Given the description of an element on the screen output the (x, y) to click on. 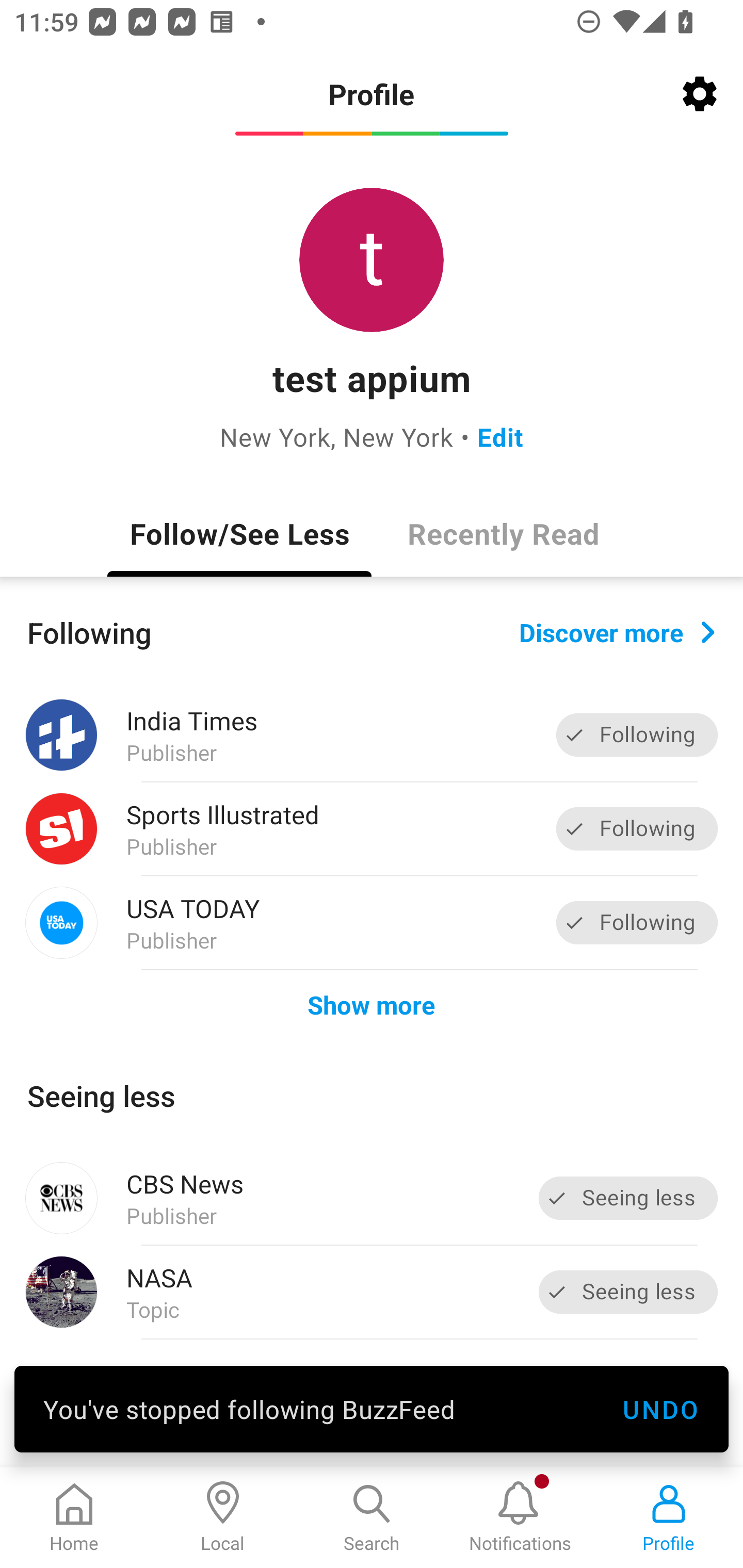
Settings (699, 93)
Edit (500, 436)
Recently Read (503, 533)
Discover more (617, 631)
India Times Publisher Following (371, 735)
Following (636, 735)
Sports Illustrated Publisher Following (371, 829)
Following (636, 828)
USA TODAY Publisher Following (371, 922)
Following (636, 922)
Show more (371, 1004)
CBS News Publisher Seeing less (371, 1197)
Seeing less (627, 1197)
NASA Topic Seeing less (371, 1291)
Seeing less (627, 1291)
UNDO (660, 1408)
Home (74, 1517)
Local (222, 1517)
Search (371, 1517)
Notifications, New notification Notifications (519, 1517)
